Given the description of an element on the screen output the (x, y) to click on. 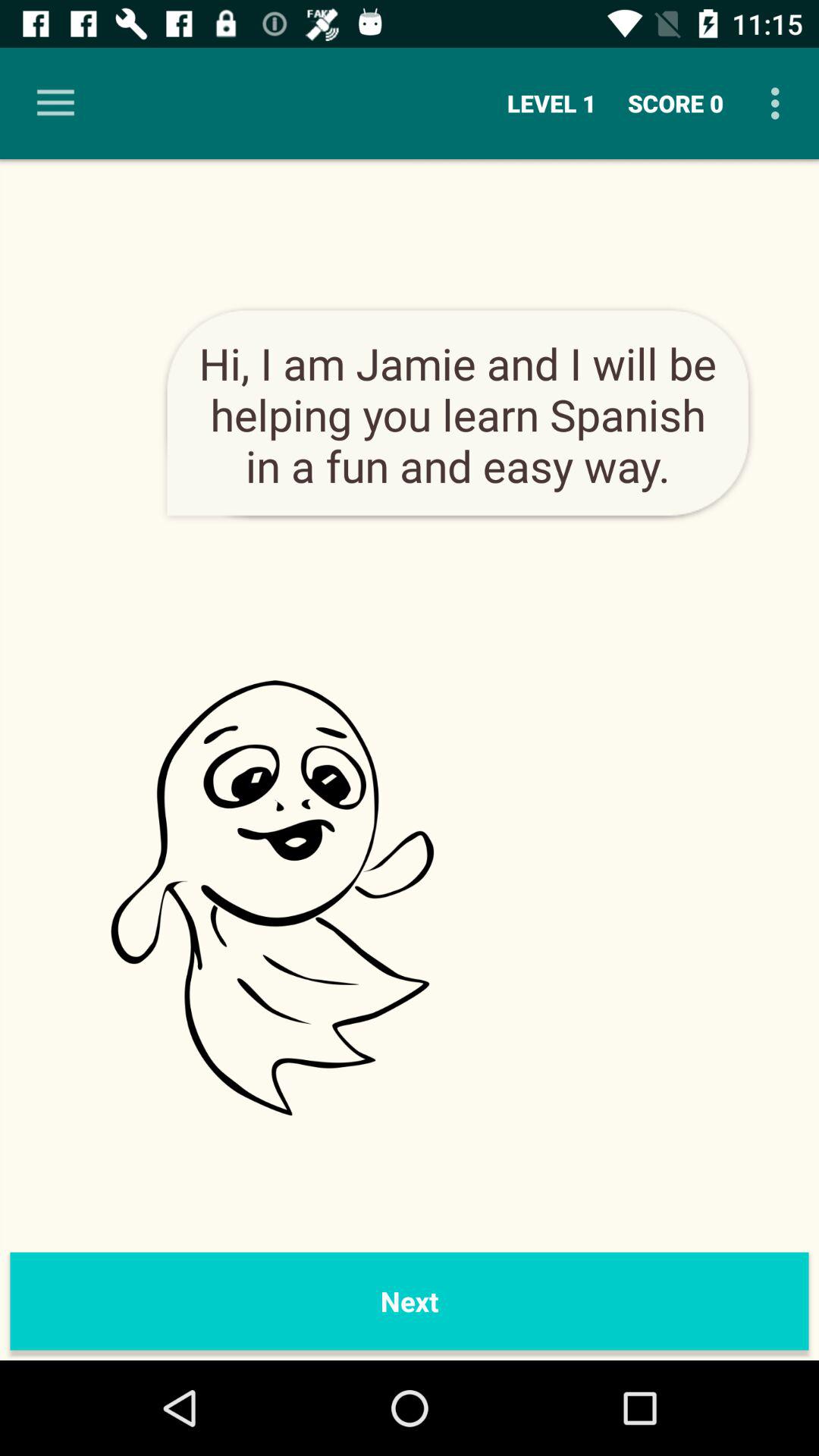
turn on hi i am item (457, 413)
